Given the description of an element on the screen output the (x, y) to click on. 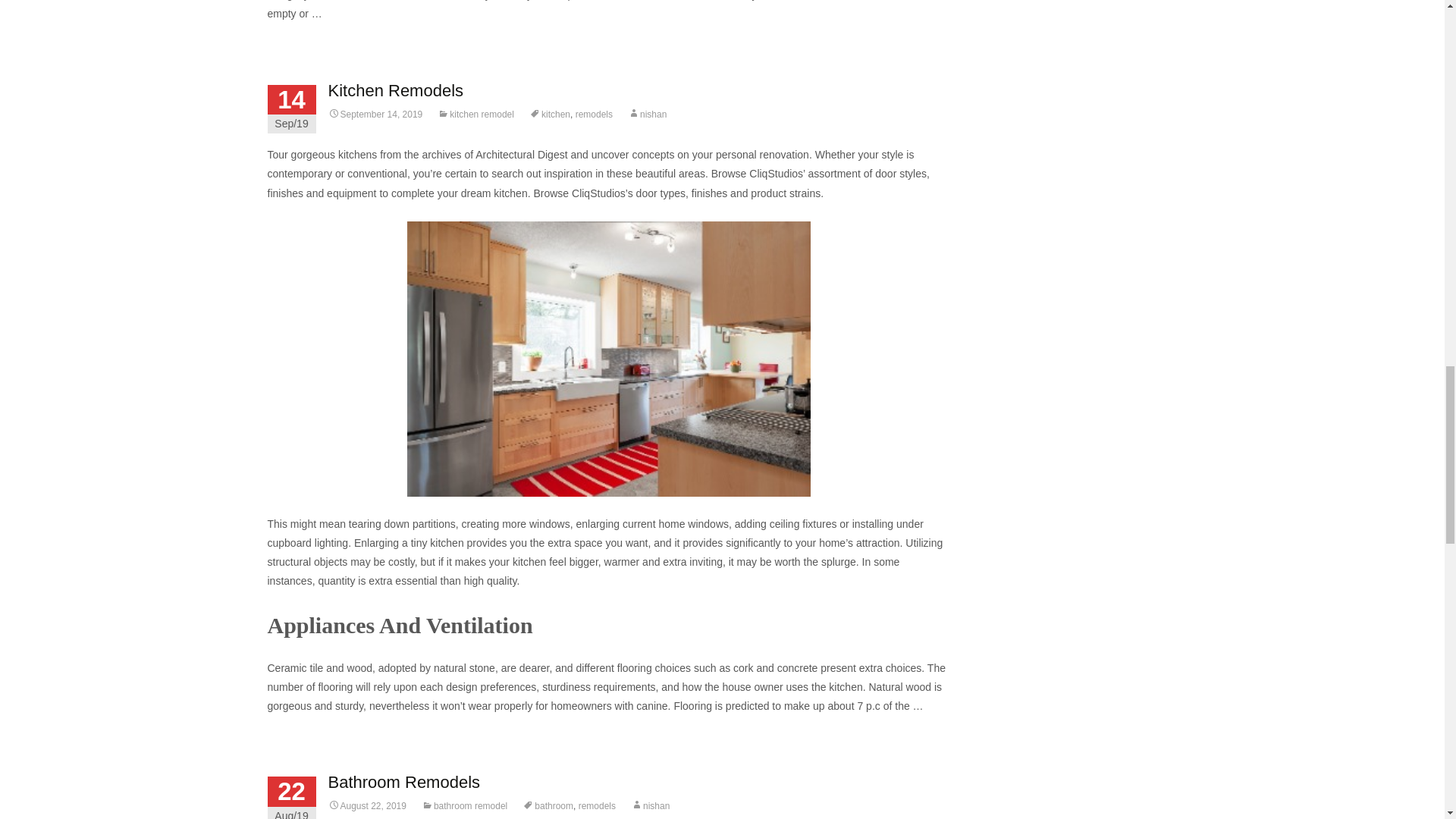
View all posts by nishan (646, 113)
Permalink to Kitchen Remodels (374, 113)
Permalink to Bathroom Remodels (366, 805)
View all posts by nishan (649, 805)
